Given the description of an element on the screen output the (x, y) to click on. 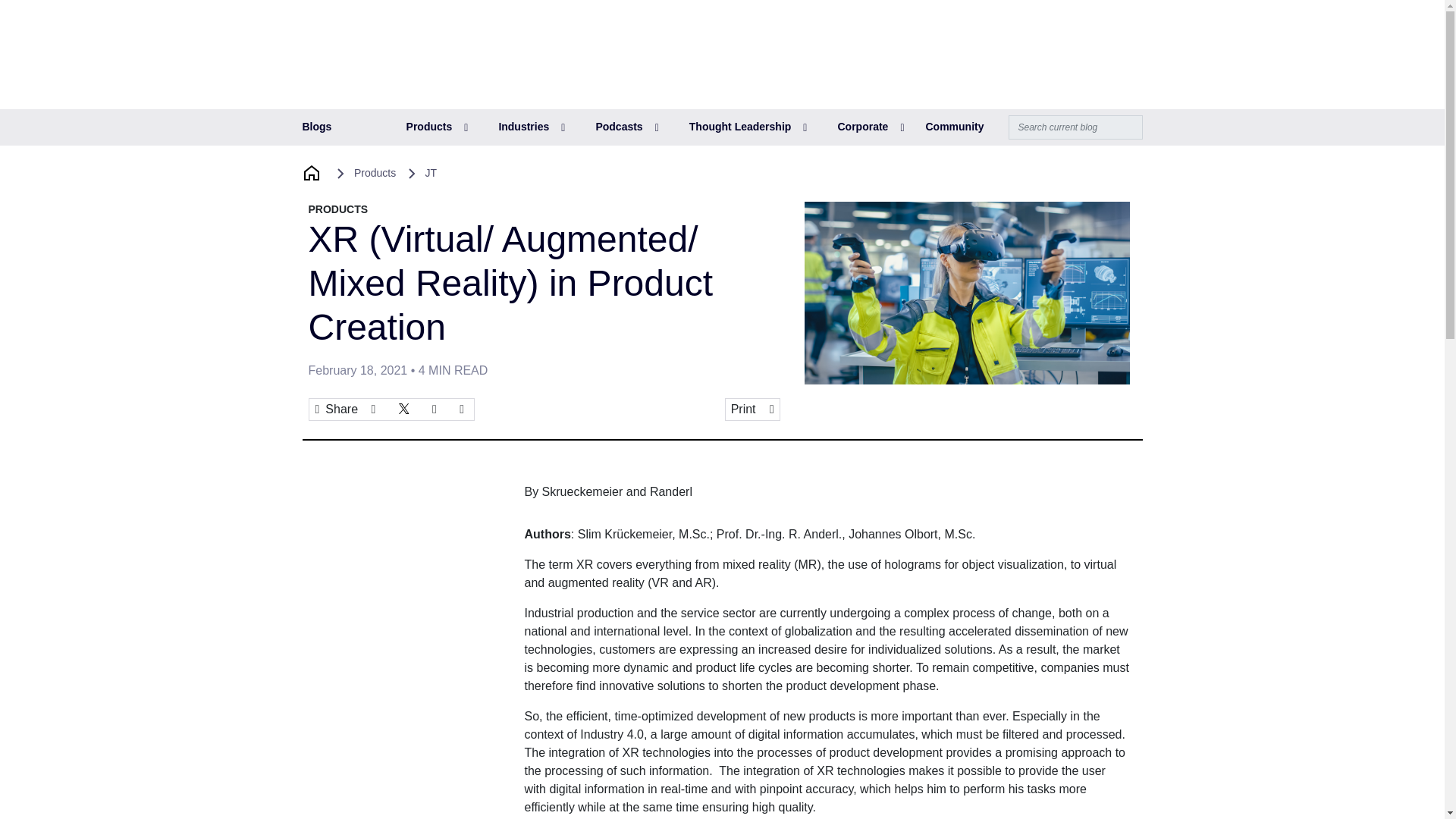
Products (437, 127)
Blogs (316, 127)
Log in (1050, 31)
Log in (1050, 31)
Products (437, 127)
